Given the description of an element on the screen output the (x, y) to click on. 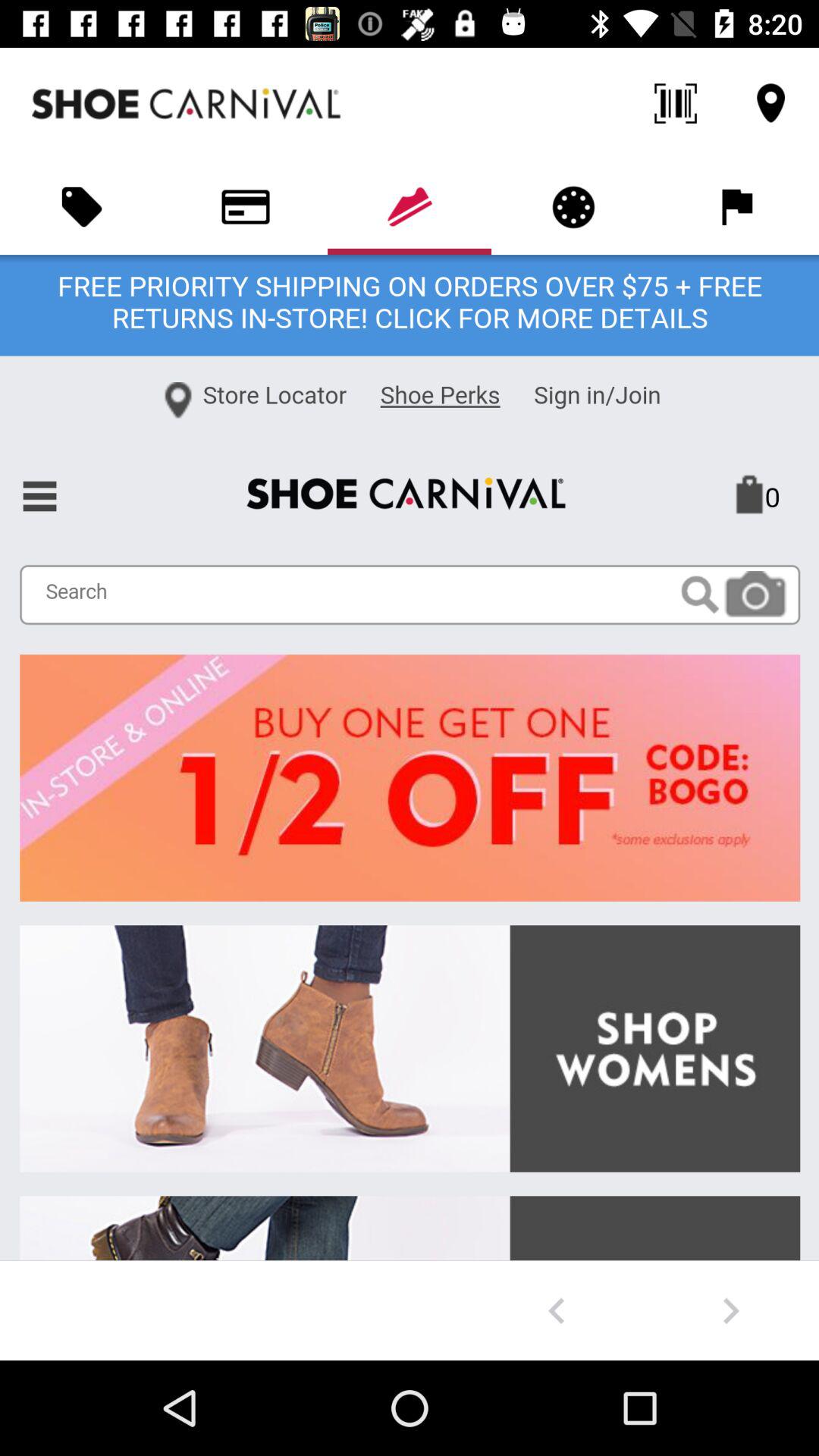
forward (731, 1310)
